Given the description of an element on the screen output the (x, y) to click on. 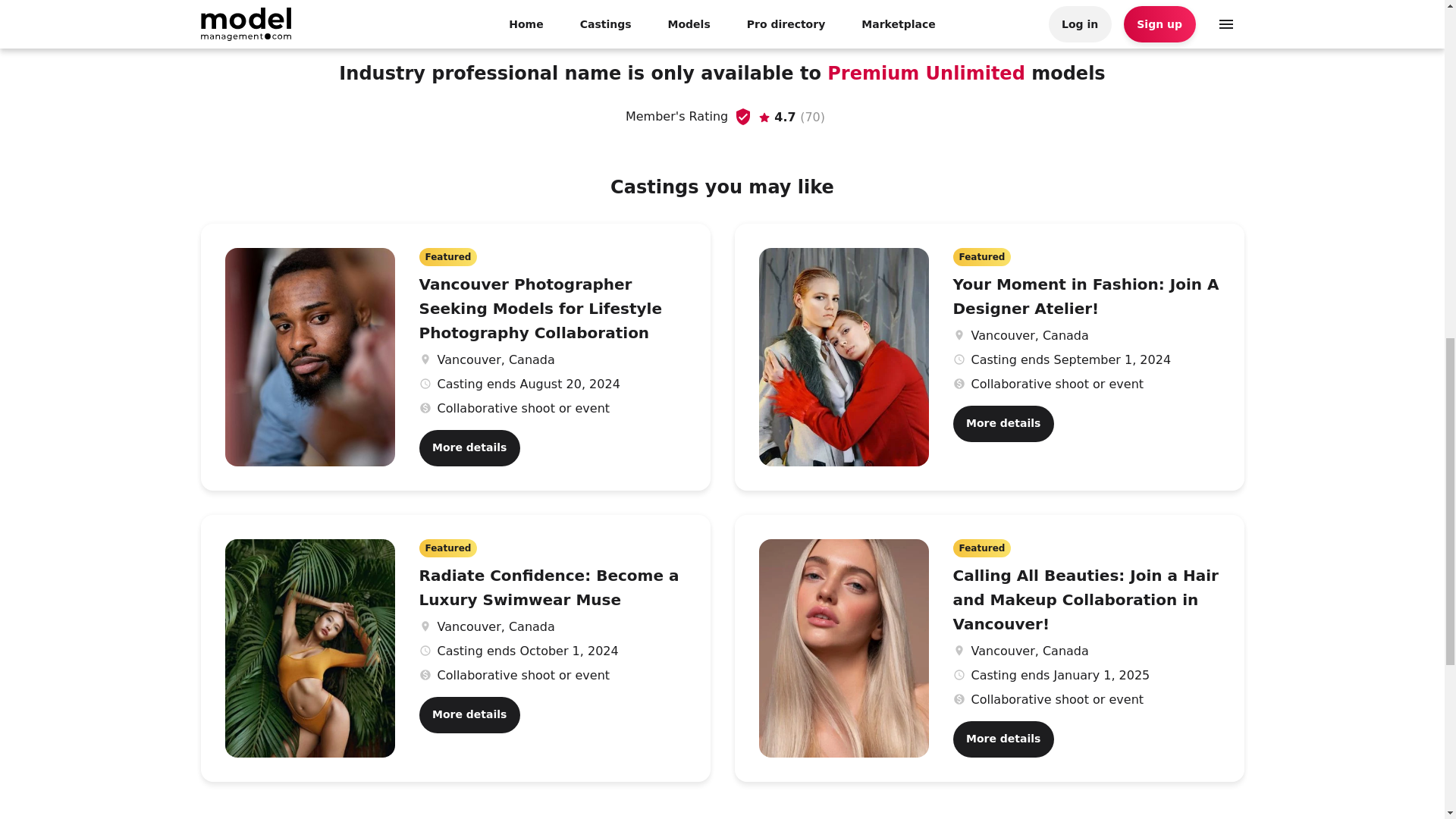
Premium Unlimited (928, 73)
More details (469, 447)
More details (469, 714)
More details (1002, 738)
More details (1002, 422)
